Given the description of an element on the screen output the (x, y) to click on. 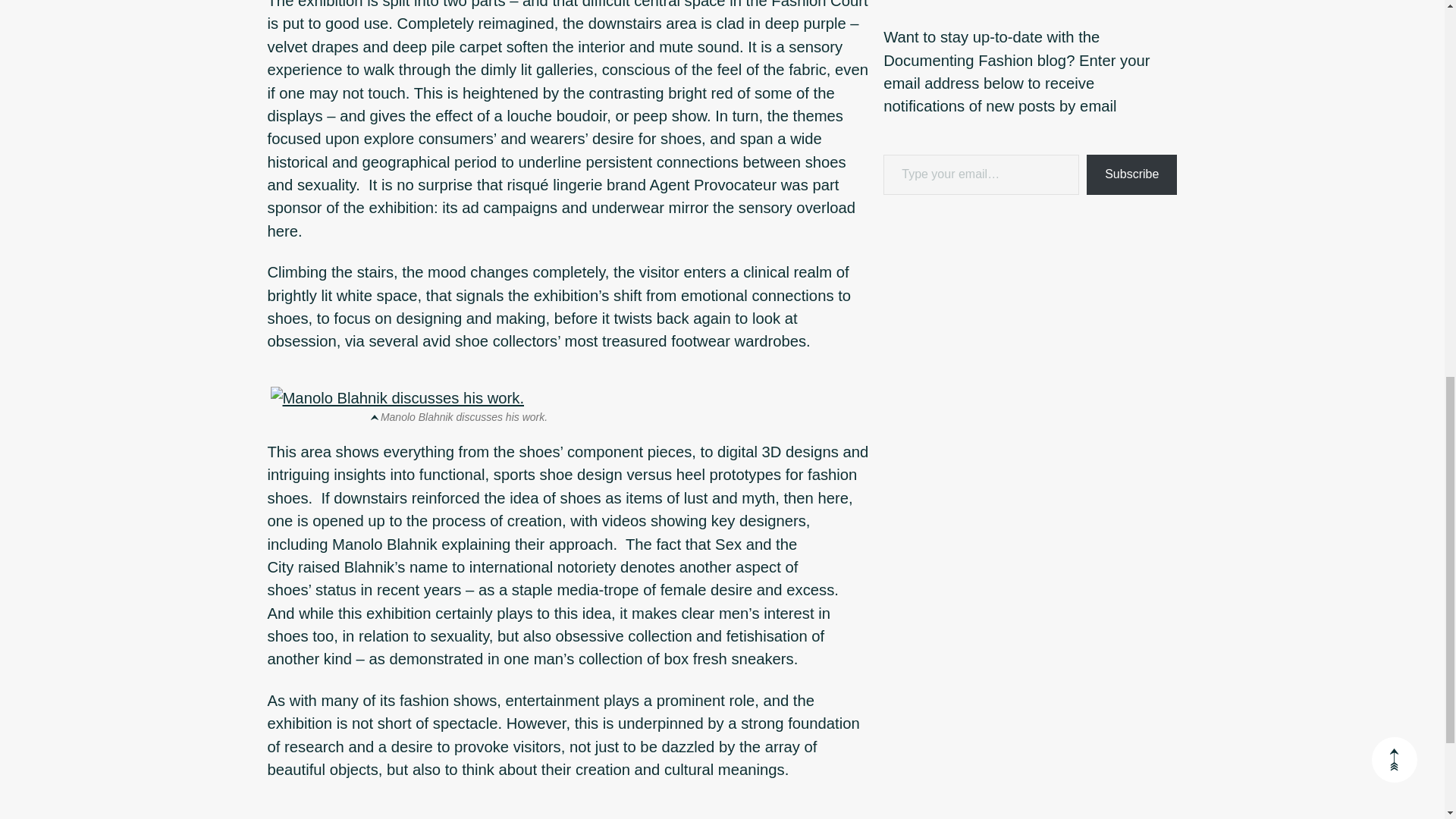
Please fill in this field. (980, 174)
Subscribe (1131, 174)
